Given the description of an element on the screen output the (x, y) to click on. 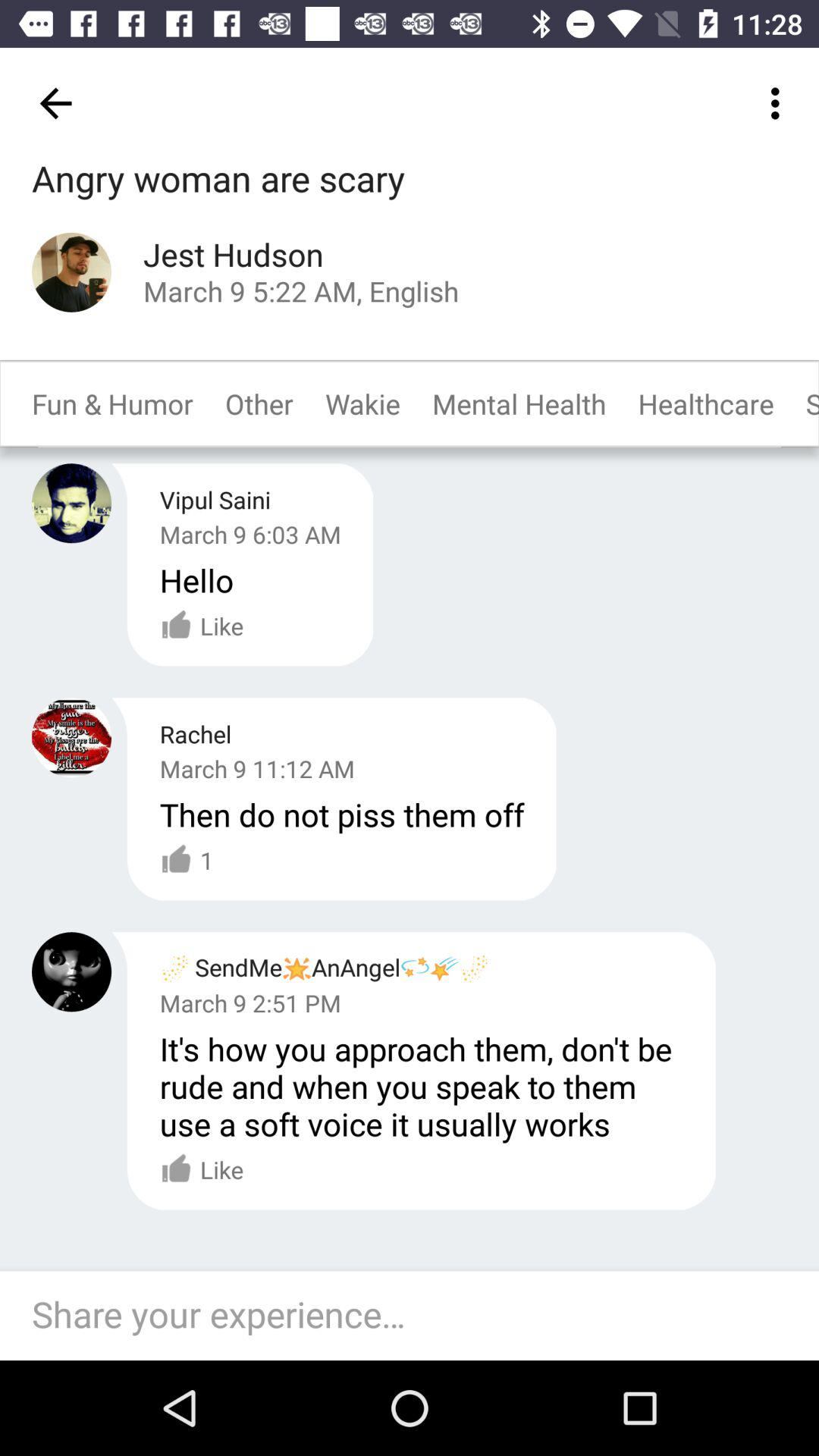
view profile (71, 737)
